Given the description of an element on the screen output the (x, y) to click on. 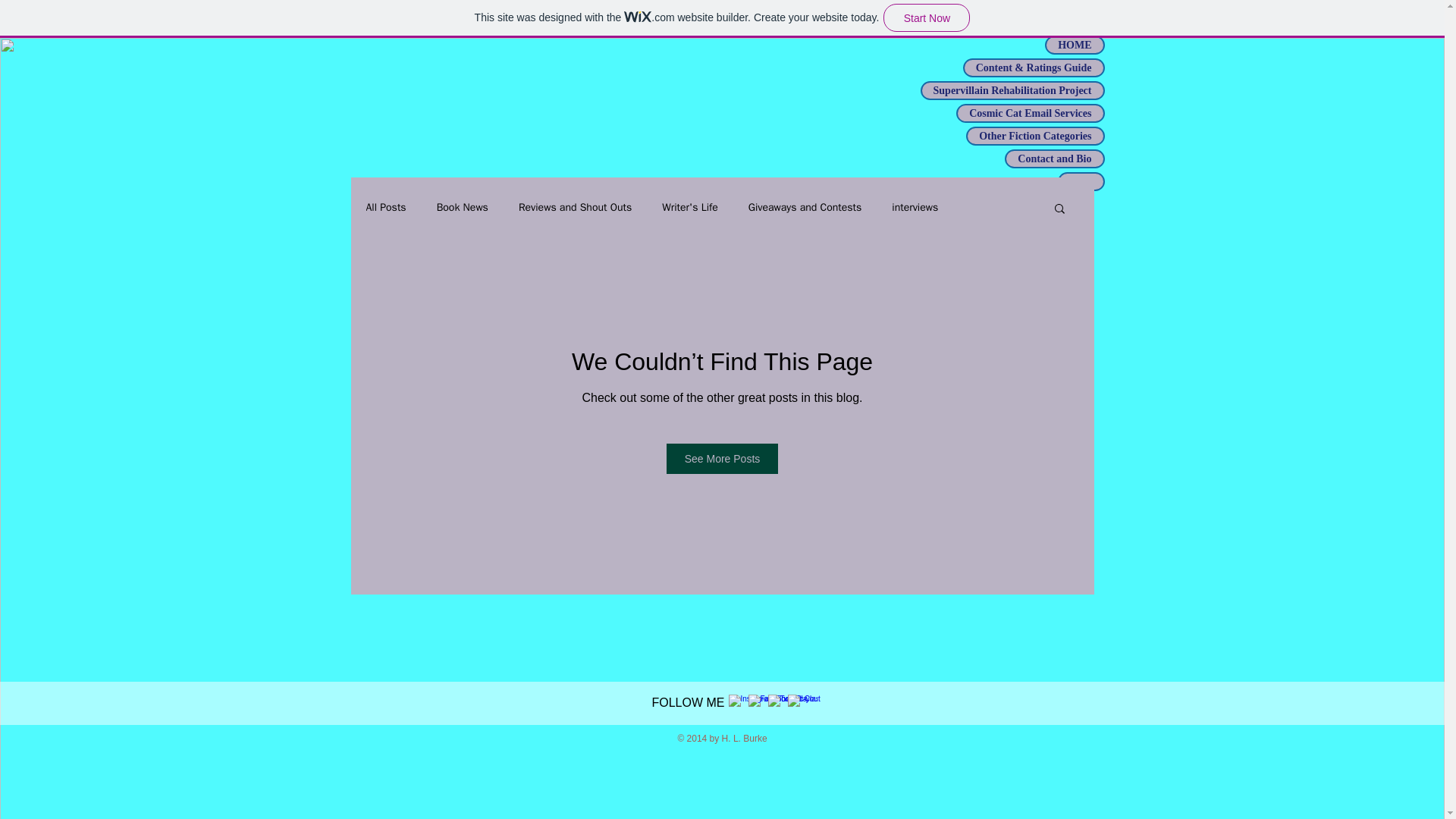
Other Fiction Categories (1035, 135)
See More Posts (722, 458)
Supervillain Rehabilitation Project (1012, 90)
Giveaways and Contests (804, 207)
All Posts (385, 207)
Blog (1080, 181)
Book News (461, 207)
interviews (914, 207)
Reviews and Shout Outs (574, 207)
HOME (1074, 44)
